Given the description of an element on the screen output the (x, y) to click on. 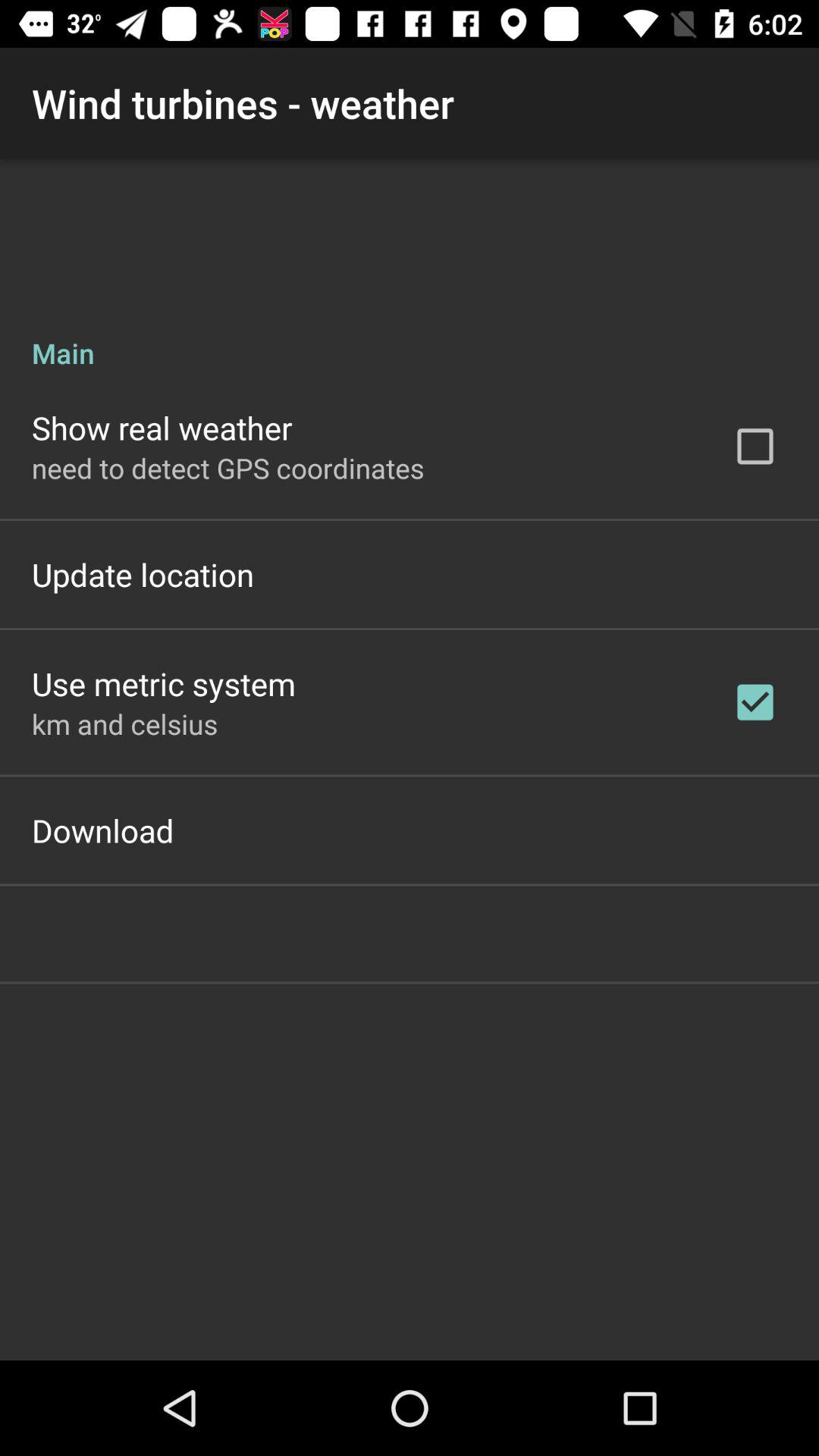
tap the app above need to detect icon (161, 427)
